Given the description of an element on the screen output the (x, y) to click on. 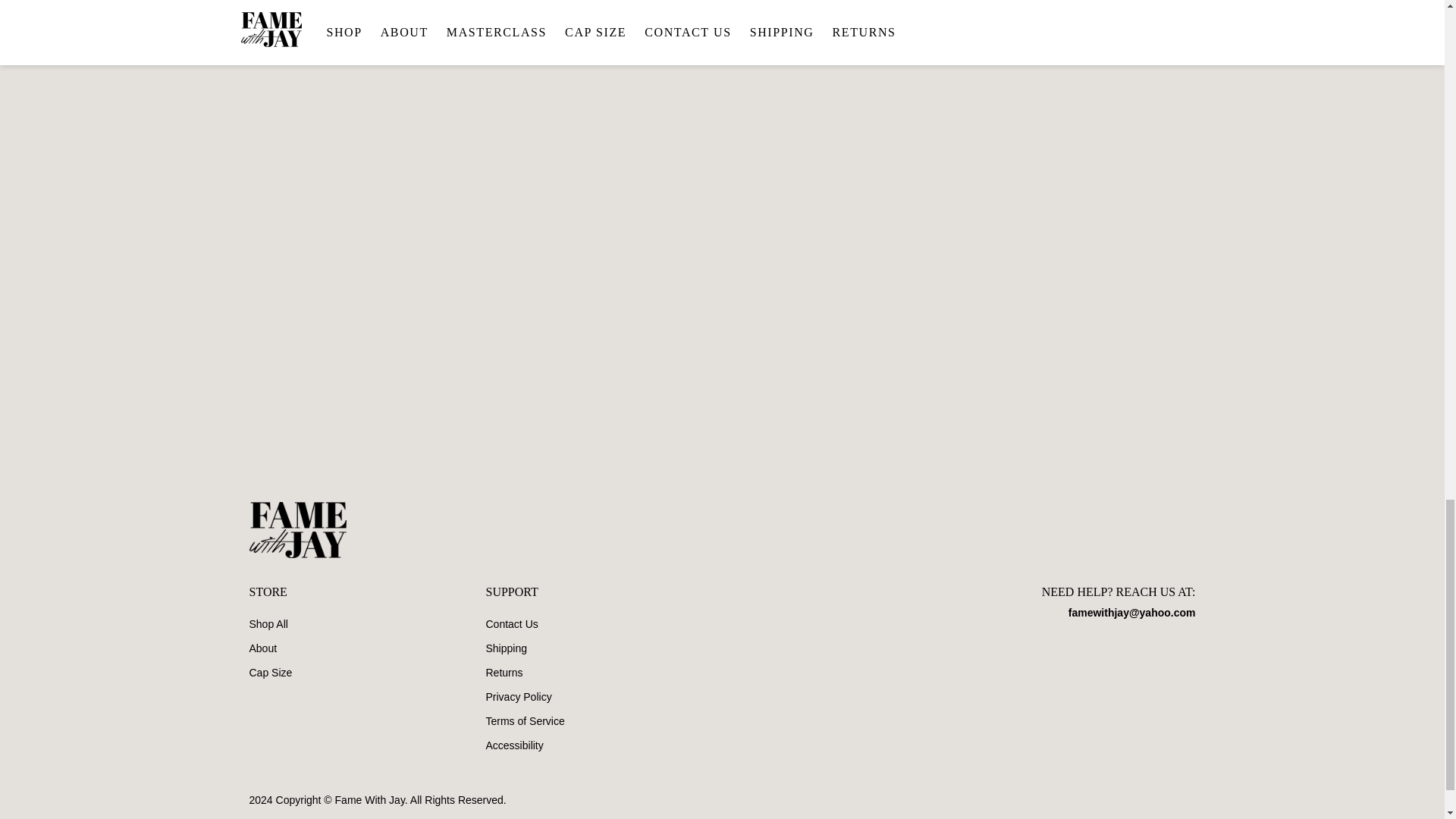
Returns (603, 672)
Fame With Jay (369, 799)
Accessibility (603, 745)
About (366, 648)
Cap Size (366, 672)
Contact Us (603, 623)
Shop All (366, 623)
Privacy Policy (603, 696)
Terms of Service (603, 721)
Shipping (603, 648)
